Given the description of an element on the screen output the (x, y) to click on. 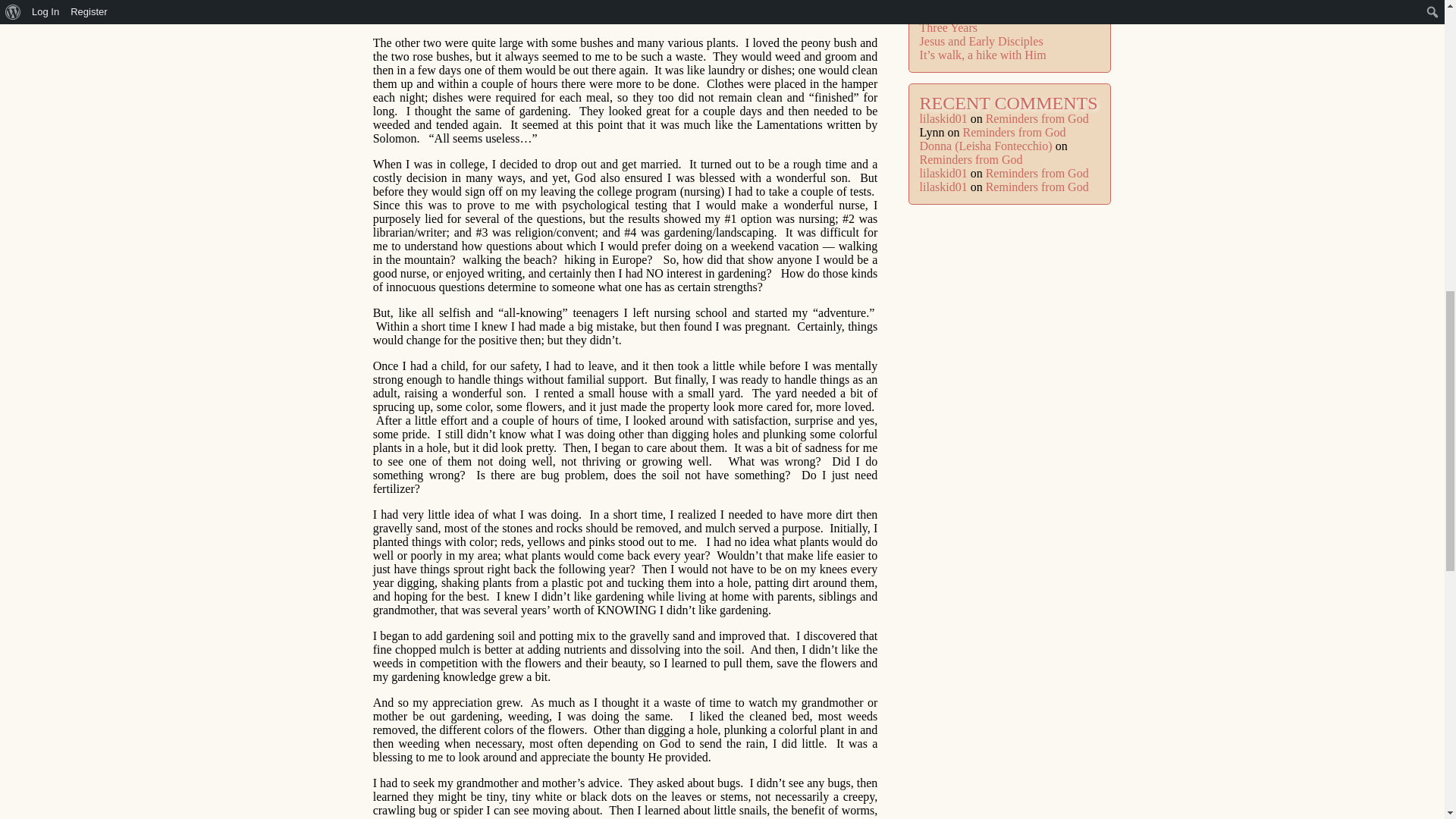
Reminders from God (971, 159)
Reminders from God (1037, 186)
Road Not Taken (959, 3)
Reminders from God (1013, 132)
Three Years (948, 27)
lilaskid01 (944, 173)
Reminders from God (1037, 173)
lilaskid01 (944, 186)
Jesus and Early Disciples (981, 41)
Reminders from God (1037, 118)
lilaskid01 (944, 118)
Independence (953, 13)
